Given the description of an element on the screen output the (x, y) to click on. 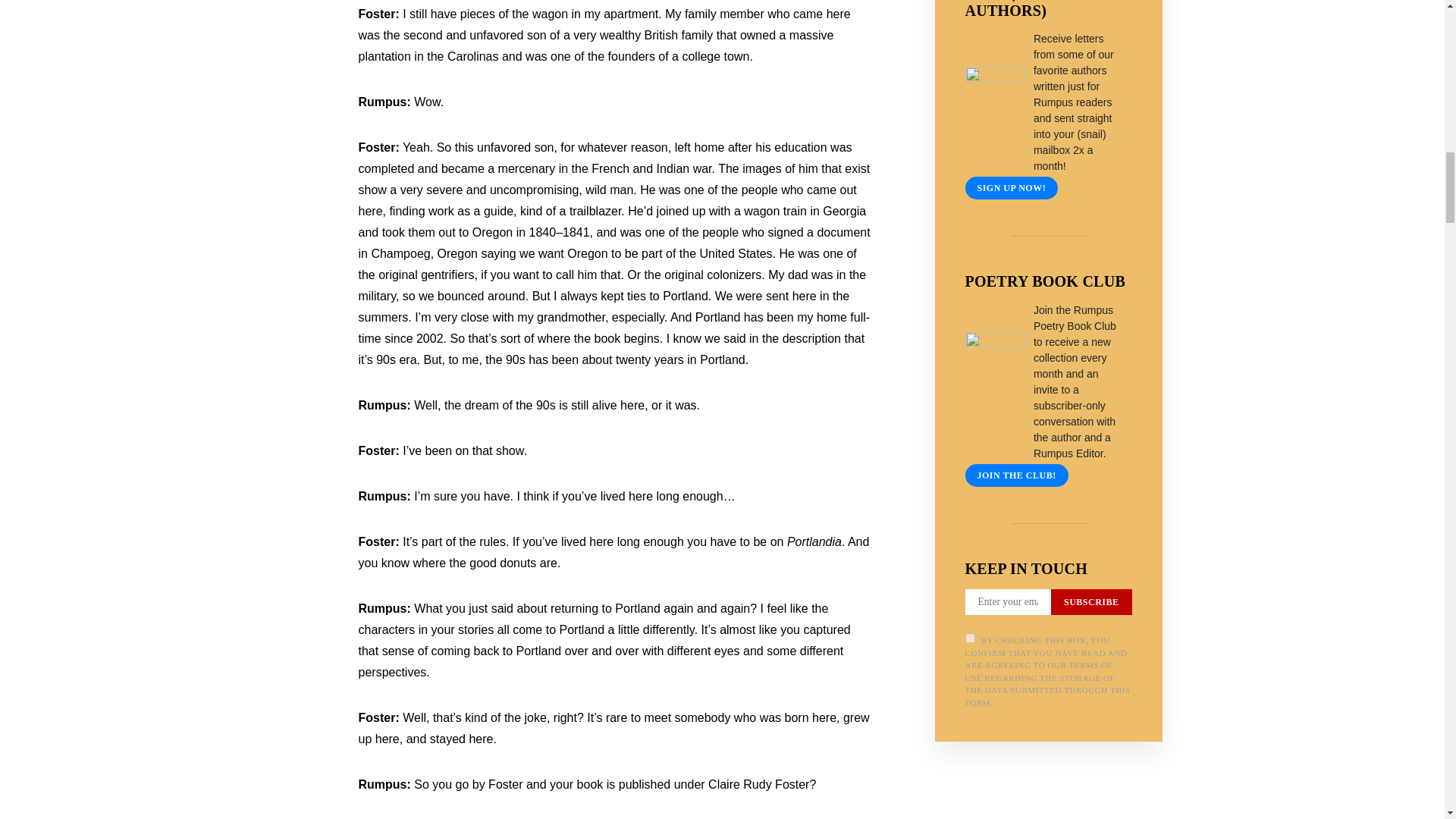
3rd party ad content (1047, 804)
on (968, 637)
